Given the description of an element on the screen output the (x, y) to click on. 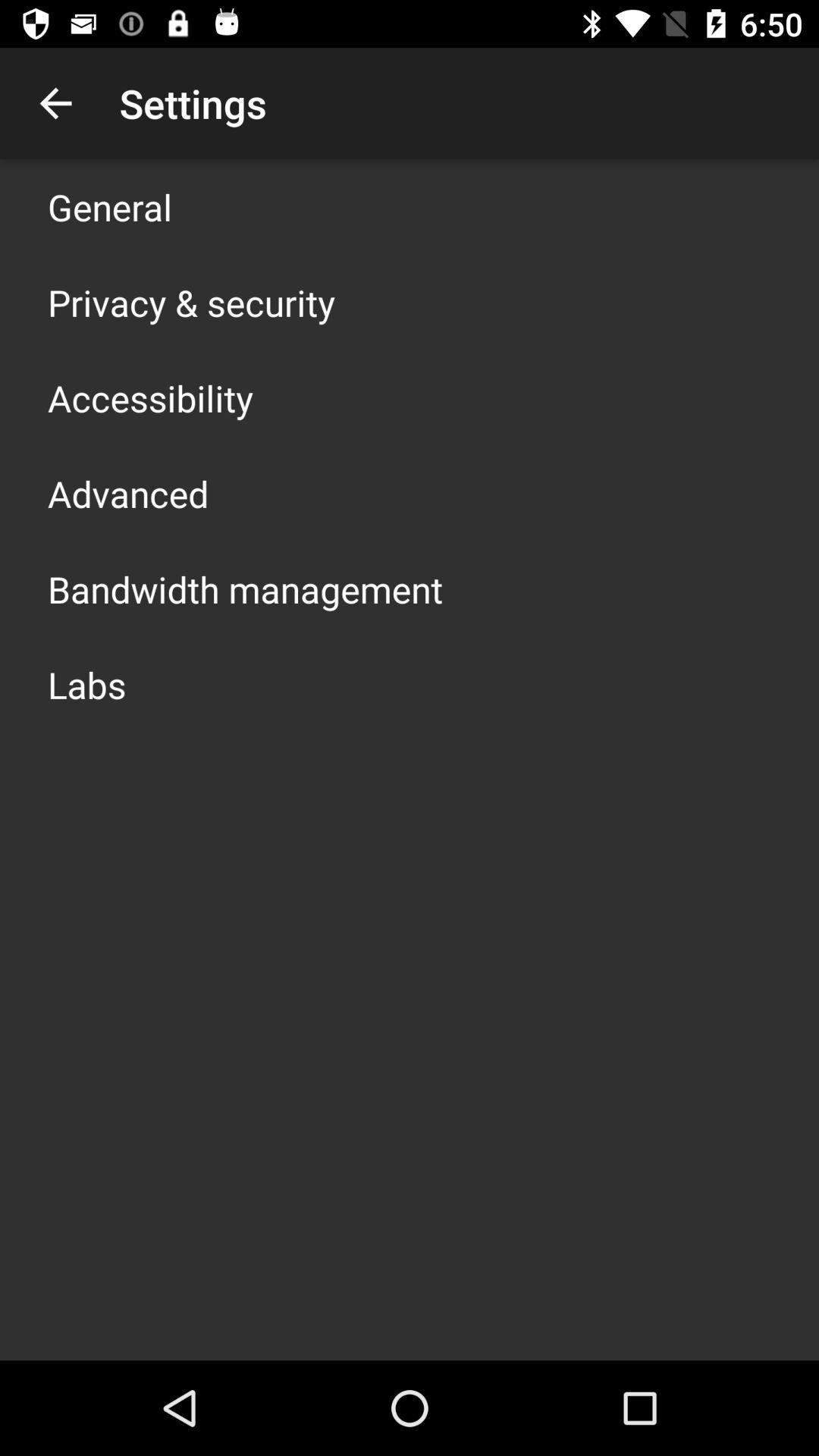
select the item next to the settings app (55, 103)
